Given the description of an element on the screen output the (x, y) to click on. 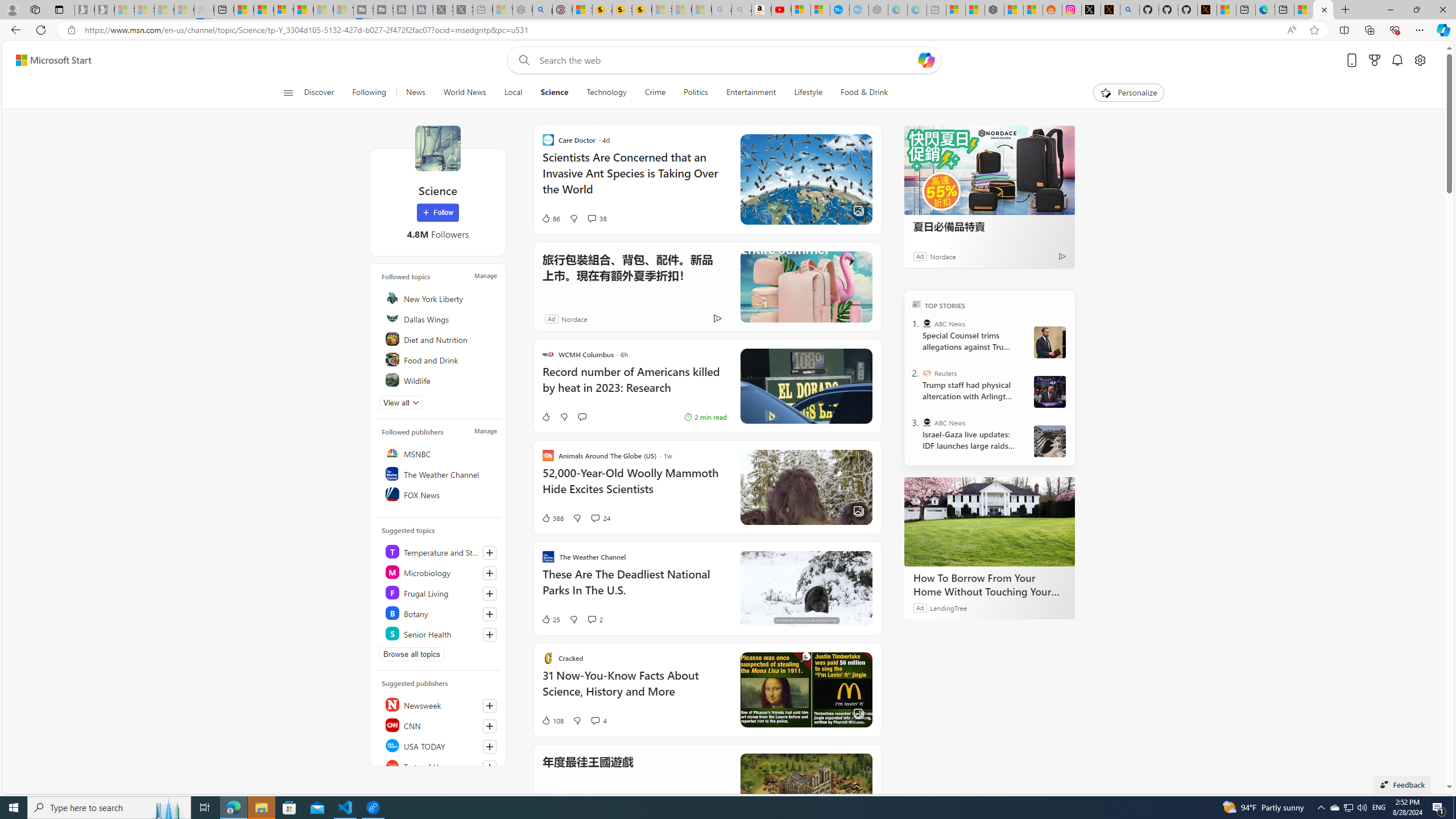
Manage (485, 430)
View comments 24 Comment (594, 517)
poe - Search (542, 9)
Skip to content (49, 59)
Local (513, 92)
Follow this topic (489, 634)
